Given the description of an element on the screen output the (x, y) to click on. 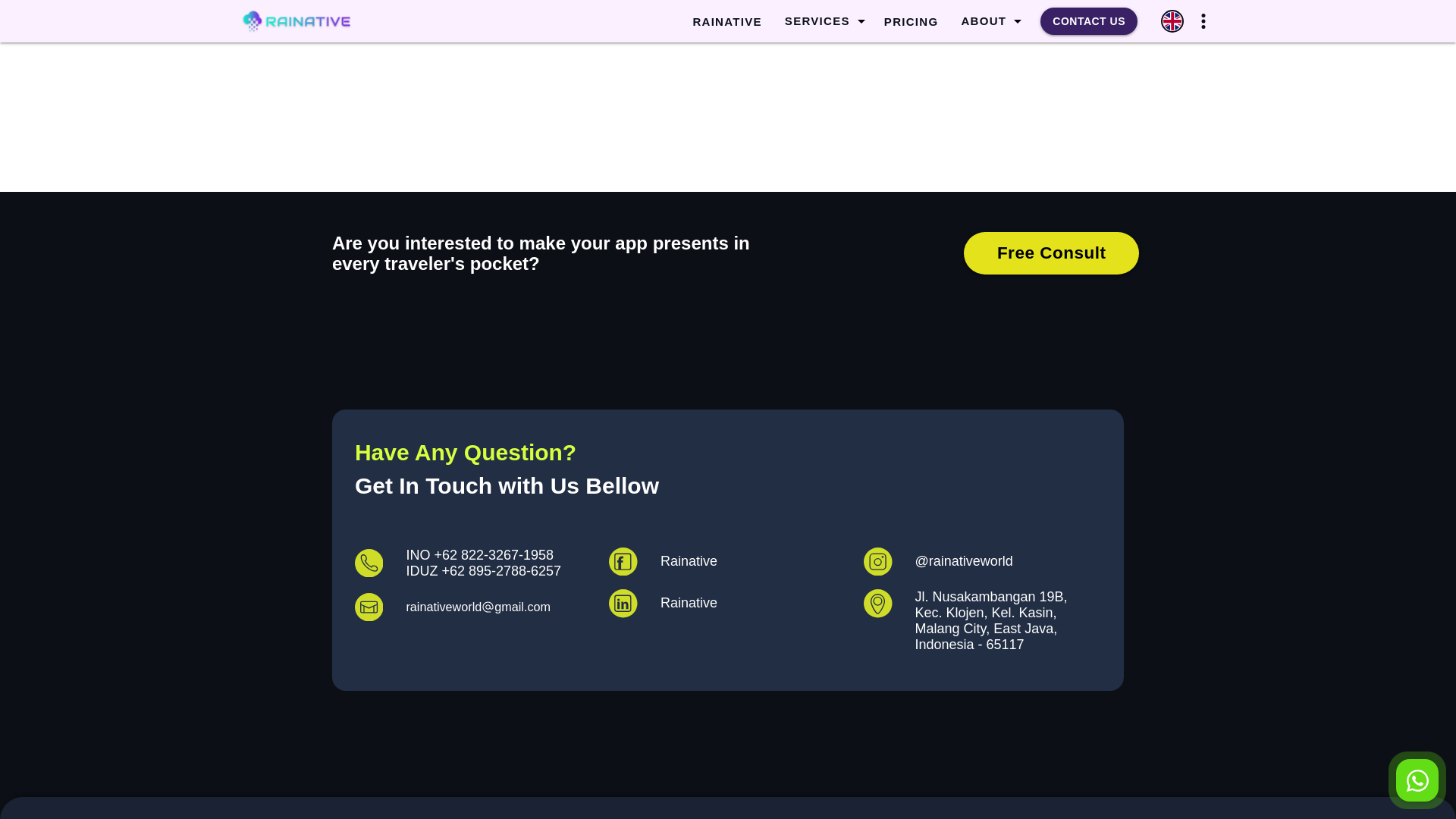
Free Consult (1050, 252)
Rainative (726, 603)
Rainative (726, 561)
